Given the description of an element on the screen output the (x, y) to click on. 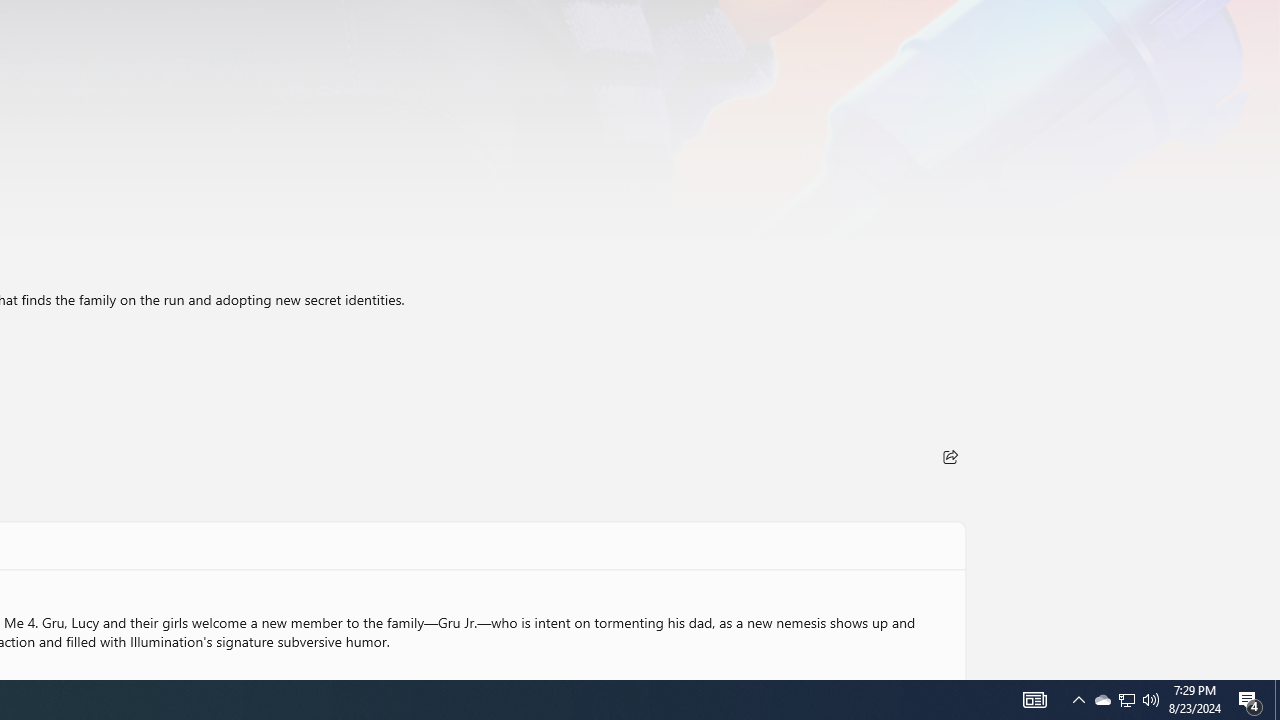
Share (950, 456)
